Given the description of an element on the screen output the (x, y) to click on. 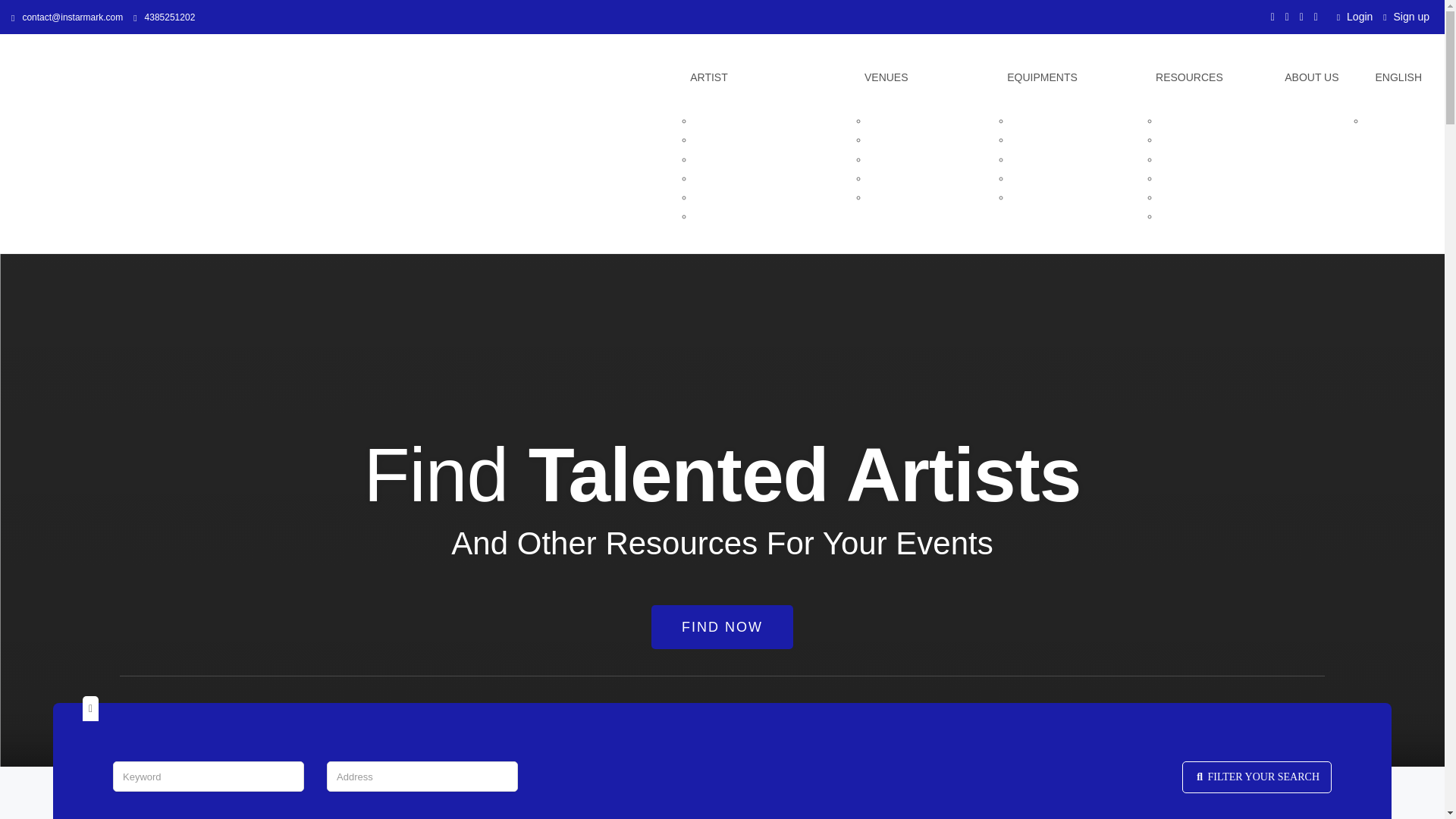
English (1391, 77)
ARTIST (765, 77)
OTHER PERFORMING ARTISTS (773, 215)
PRODUCERS (727, 196)
INDOORS (892, 120)
VIDEOGRAPHERS (1205, 215)
RECORDING STUDIO (1064, 139)
CORPORATE (727, 120)
Sign up (1409, 16)
RESOURCES (1208, 77)
